Given the description of an element on the screen output the (x, y) to click on. 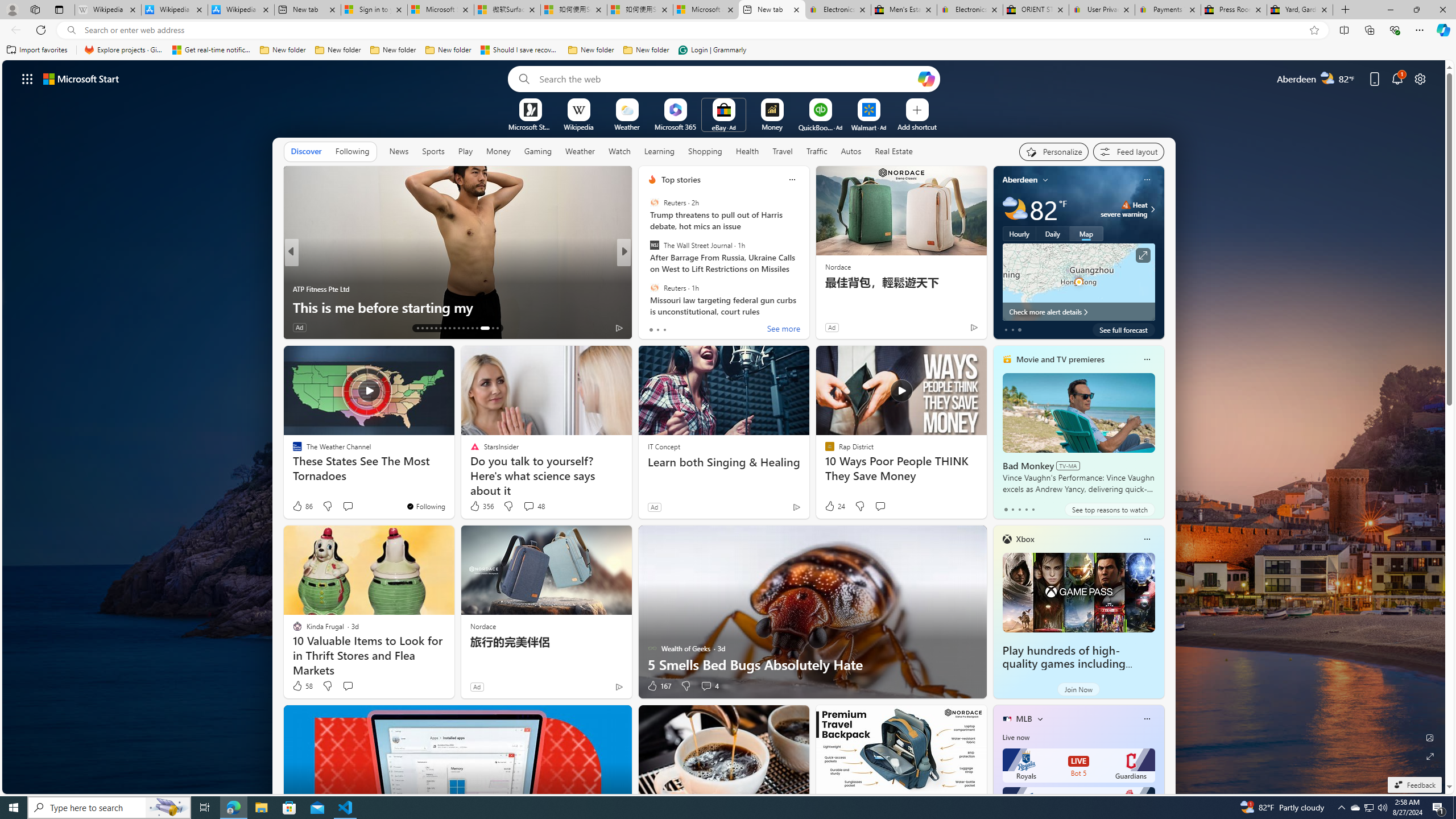
View comments 48 Comment (533, 505)
Should I save recovered Word documents? - Microsoft Support (519, 49)
How to Enable and Disable the Windows Key (457, 307)
AutomationID: tab-25 (472, 328)
See full forecast (1123, 329)
AutomationID: tab-23 (462, 328)
AutomationID: tab-26 (476, 328)
Import favorites (36, 49)
AutomationID: tab-16 (431, 328)
